Given the description of an element on the screen output the (x, y) to click on. 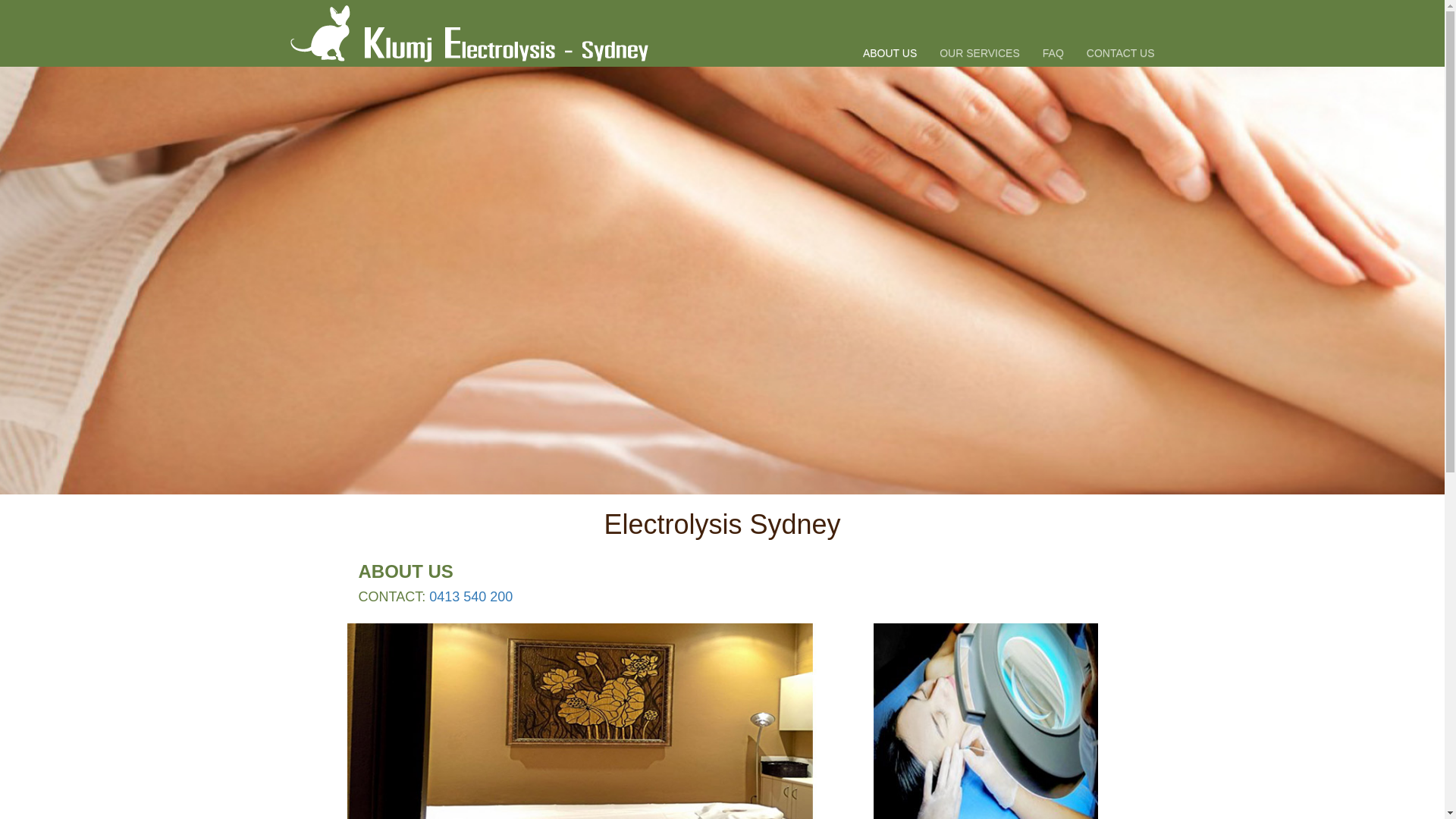
0413 540 200 Element type: text (470, 596)
FAQ Element type: text (1053, 33)
CONTACT US Element type: text (1120, 33)
ABOUT US Element type: text (889, 33)
OUR SERVICES Element type: text (979, 33)
